Given the description of an element on the screen output the (x, y) to click on. 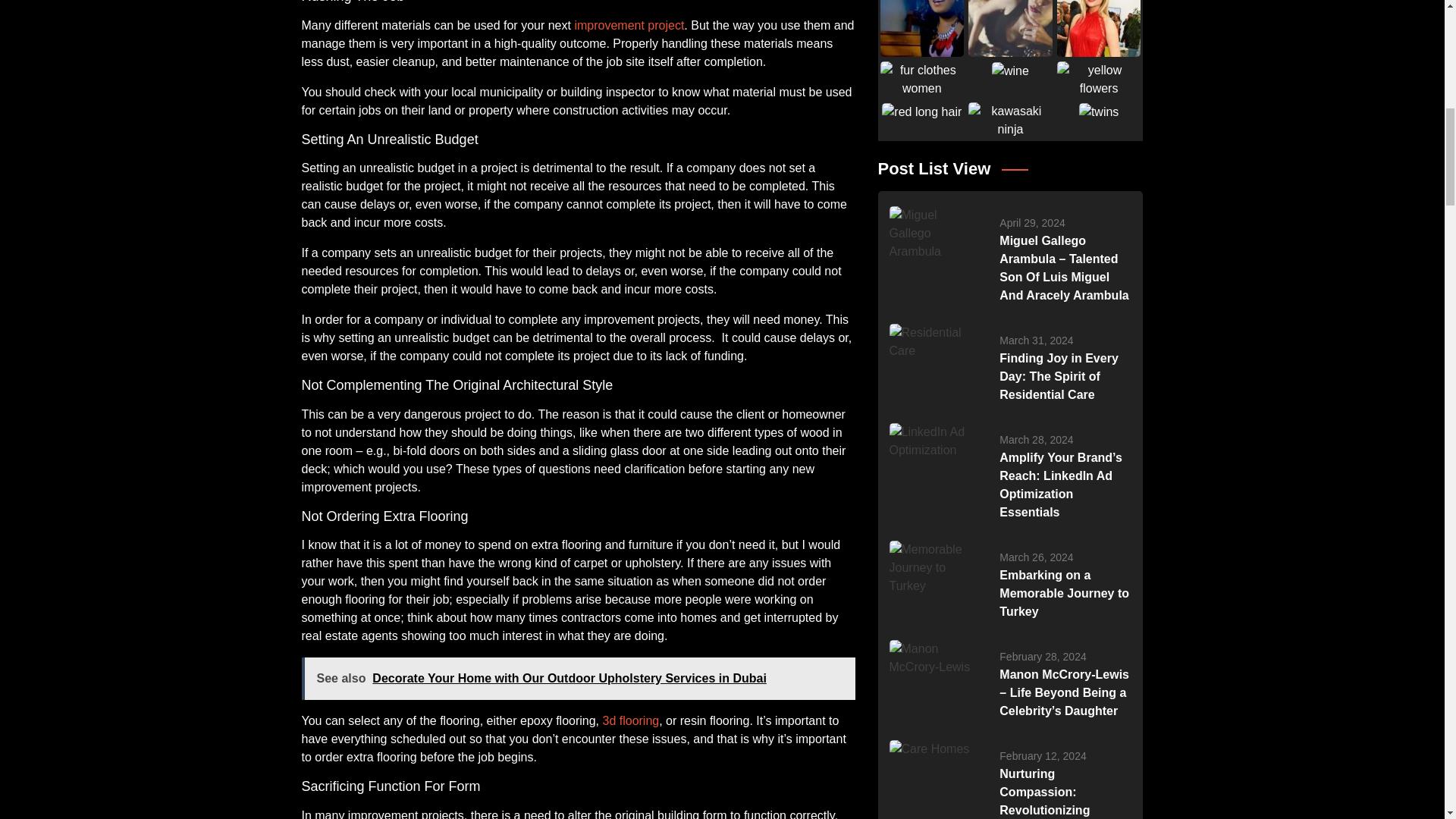
improvement project (628, 24)
3d flooring (630, 720)
